Given the description of an element on the screen output the (x, y) to click on. 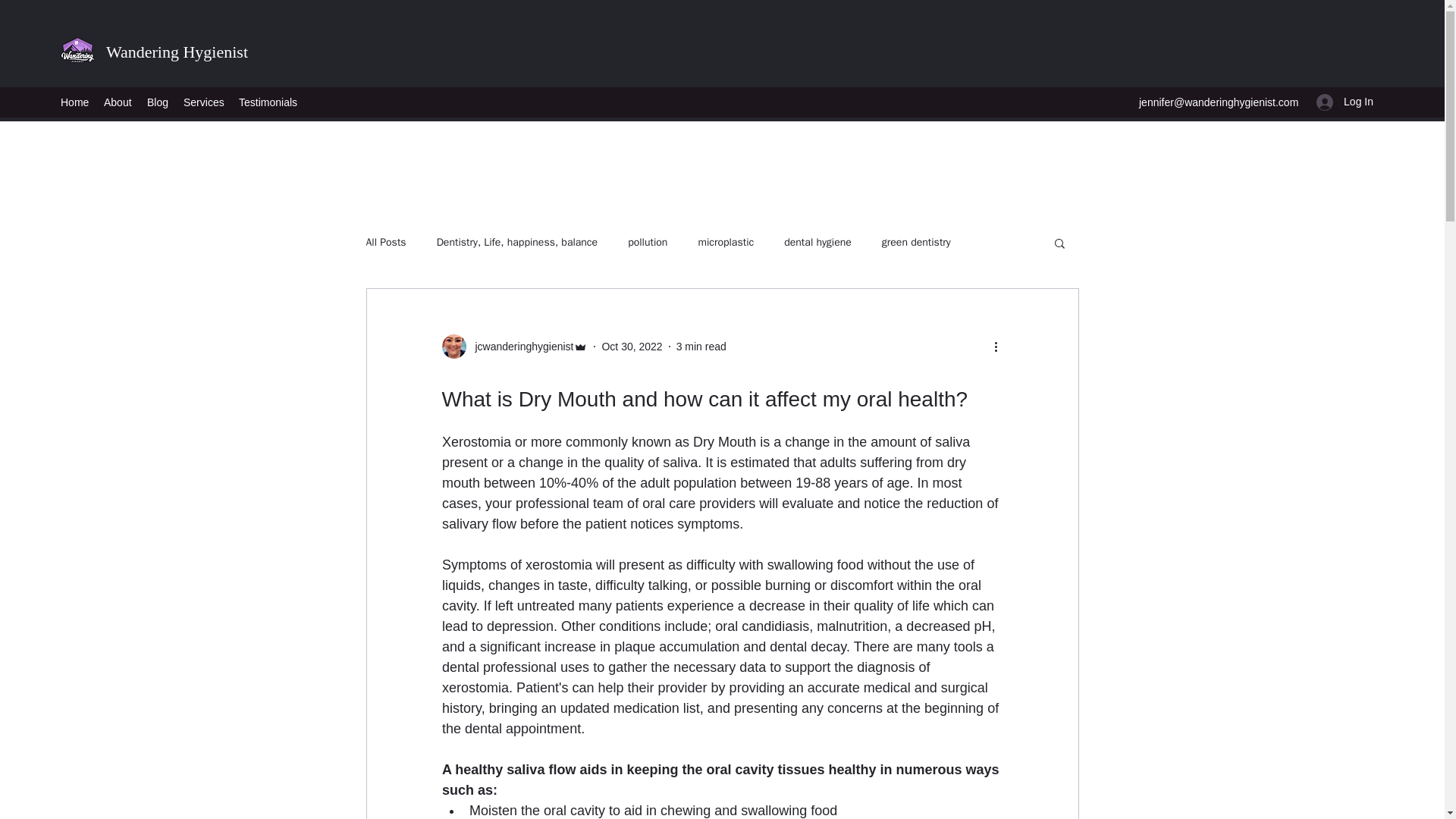
Dentistry, Life, happiness, balance (517, 242)
About (117, 101)
jcwanderinghygienist (519, 345)
Testimonials (267, 101)
jcwanderinghygienist (514, 346)
Log In (1345, 101)
green dentistry (916, 242)
3 min read (701, 345)
Services (203, 101)
dental hygiene (817, 242)
microplastic (725, 242)
pollution (646, 242)
Oct 30, 2022 (631, 345)
Blog (157, 101)
Home (74, 101)
